Given the description of an element on the screen output the (x, y) to click on. 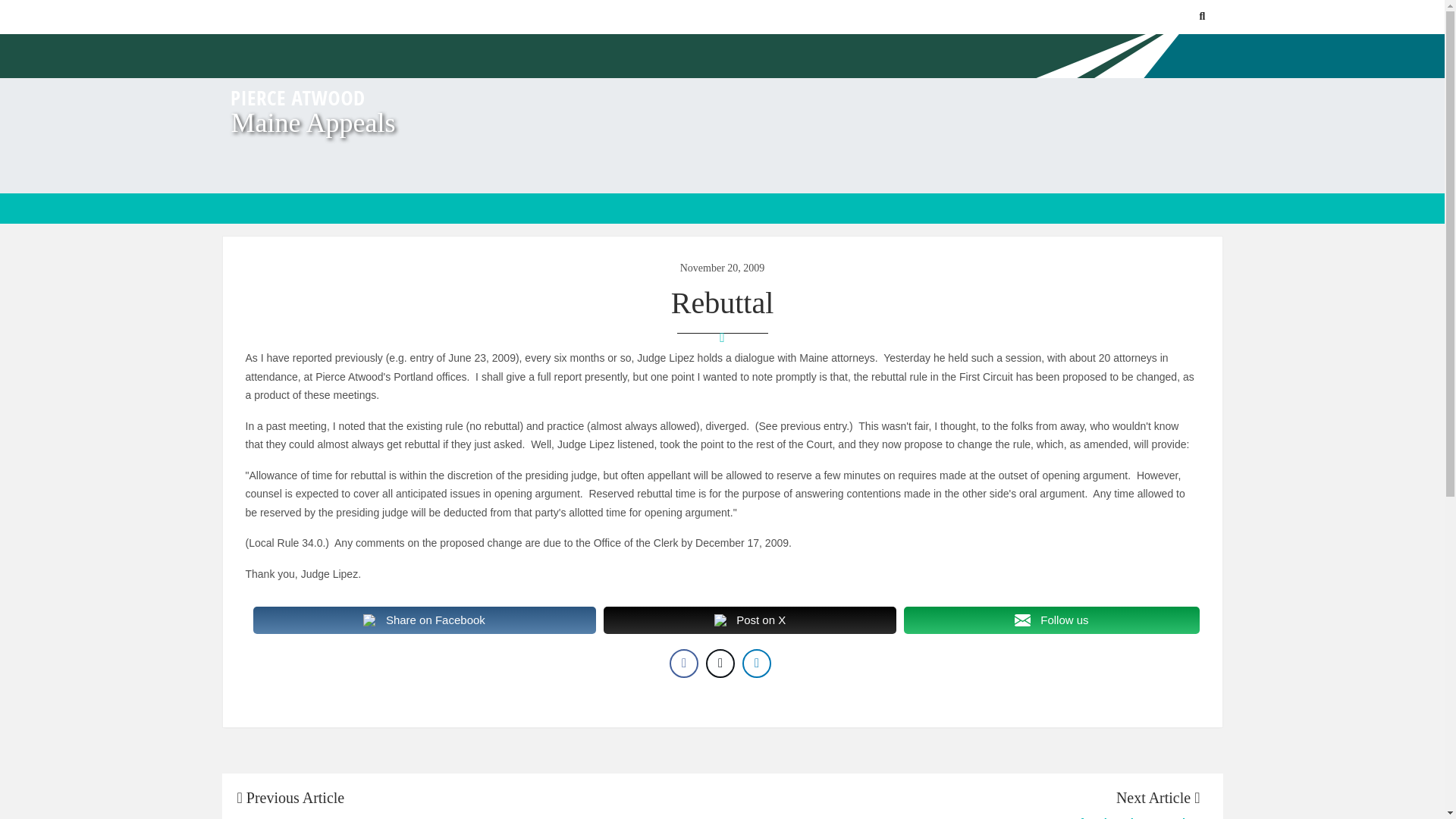
Husson (474, 816)
Pierce Atwood Blogs (296, 96)
Maine Appeals (312, 122)
Summary of Judge Lipez meeting (960, 816)
Share on Facebook (424, 619)
Follow us (1051, 619)
Post on X (750, 619)
